Given the description of an element on the screen output the (x, y) to click on. 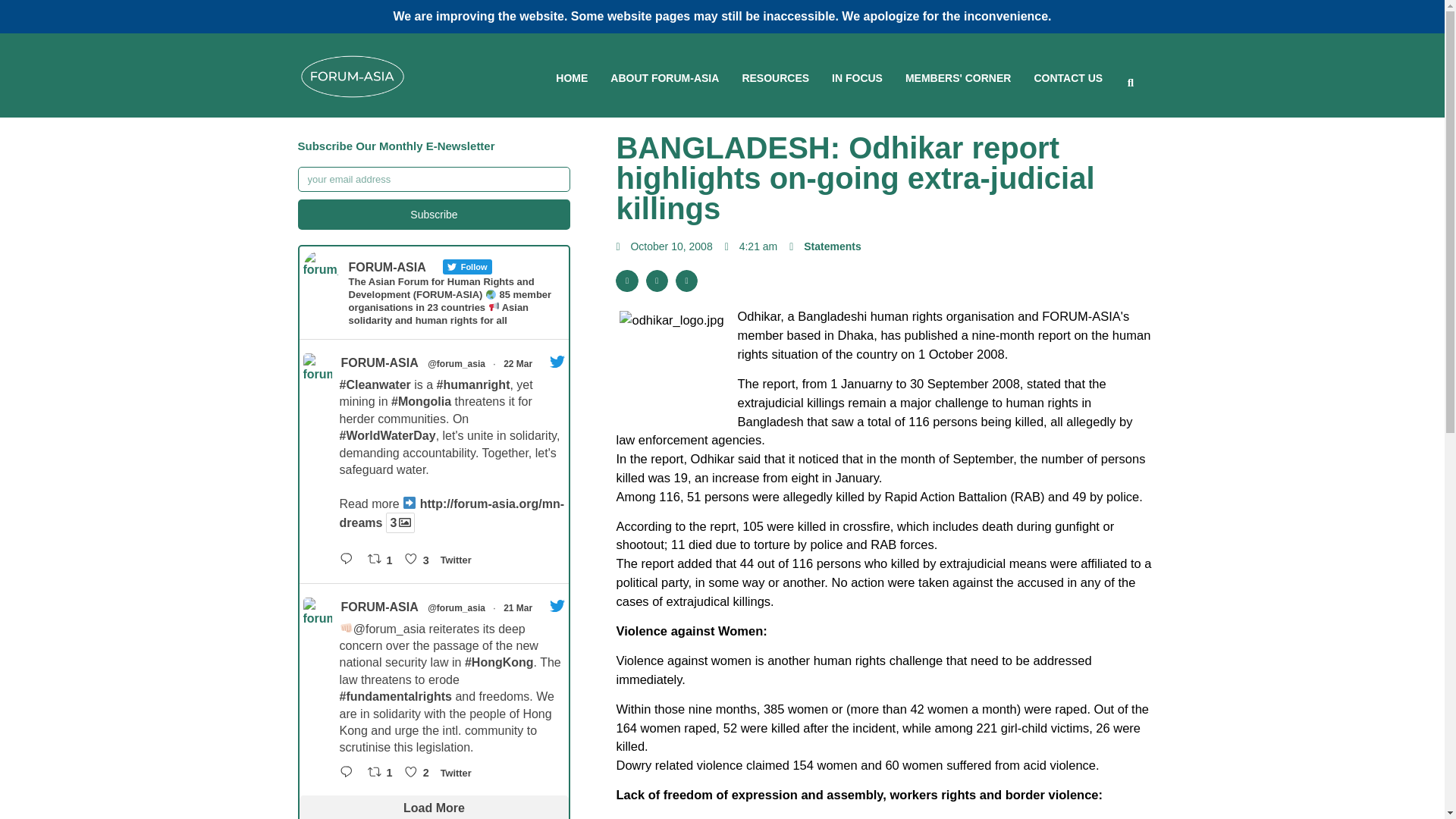
ABOUT FORUM-ASIA (664, 78)
HOME (571, 78)
IN FOCUS (856, 78)
MEMBERS' CORNER (957, 78)
RESOURCES (774, 78)
CONTACT US (1067, 78)
